Given the description of an element on the screen output the (x, y) to click on. 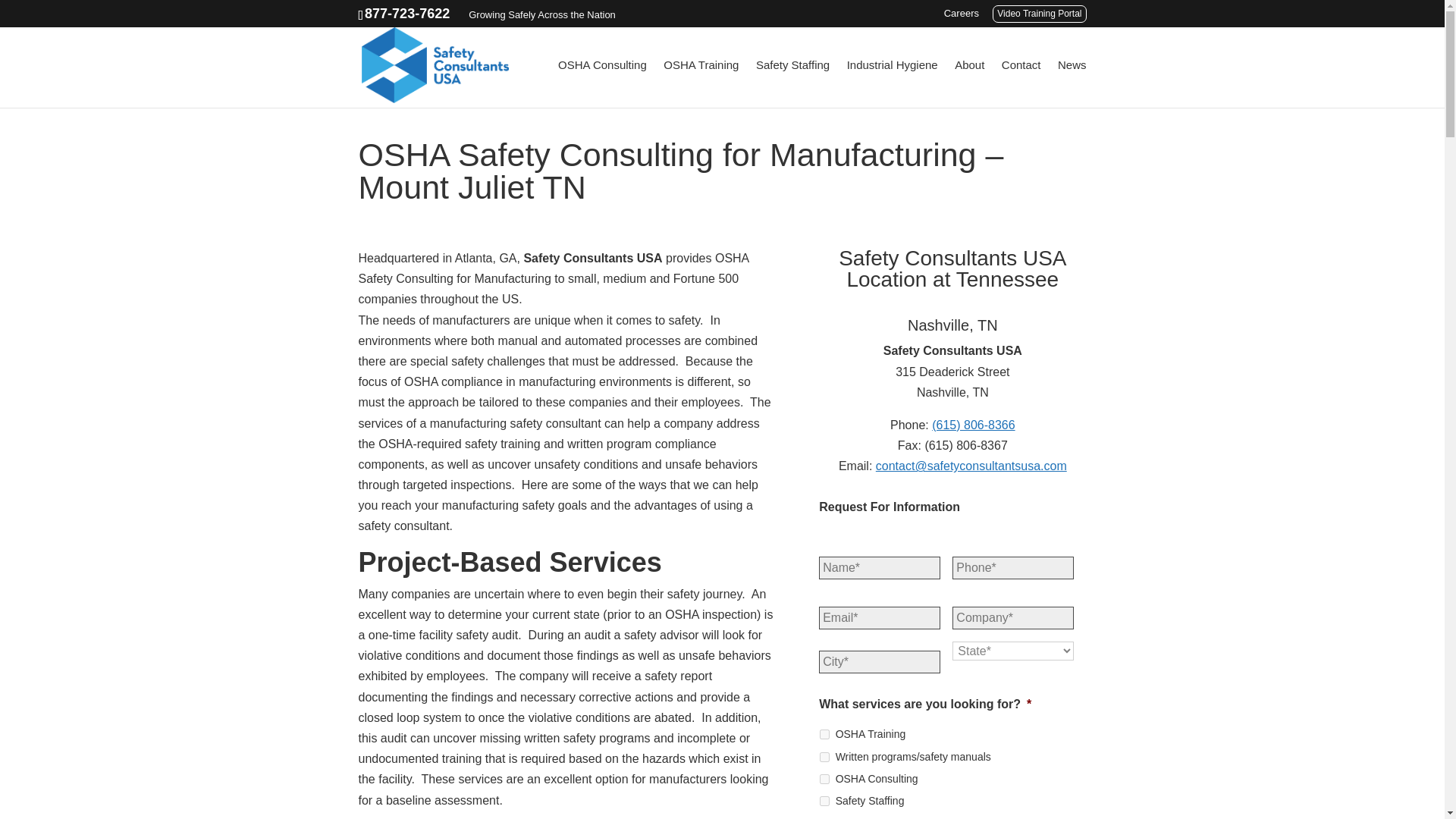
OSHA Training (824, 734)
Safety Staffing (792, 83)
OSHA Training (700, 83)
OSHA Consulting (824, 778)
Safety Staffing (824, 800)
Careers (960, 17)
877-723-7622 (407, 13)
Industrial Hygiene (892, 83)
Video Training Portal (1039, 13)
OSHA Consulting (601, 83)
